Given the description of an element on the screen output the (x, y) to click on. 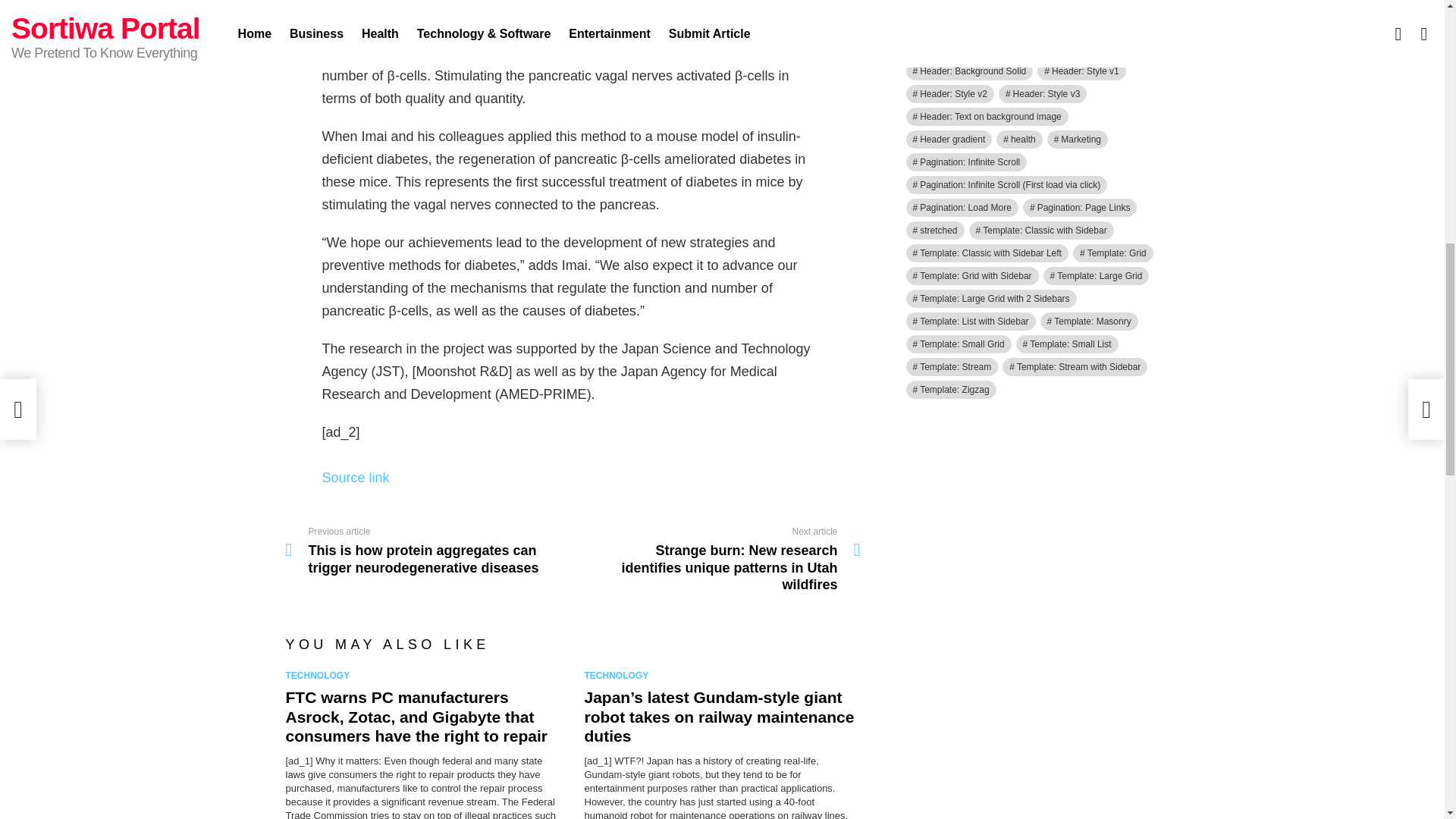
TECHNOLOGY (618, 675)
Source link (354, 477)
TECHNOLOGY (320, 675)
